Given the description of an element on the screen output the (x, y) to click on. 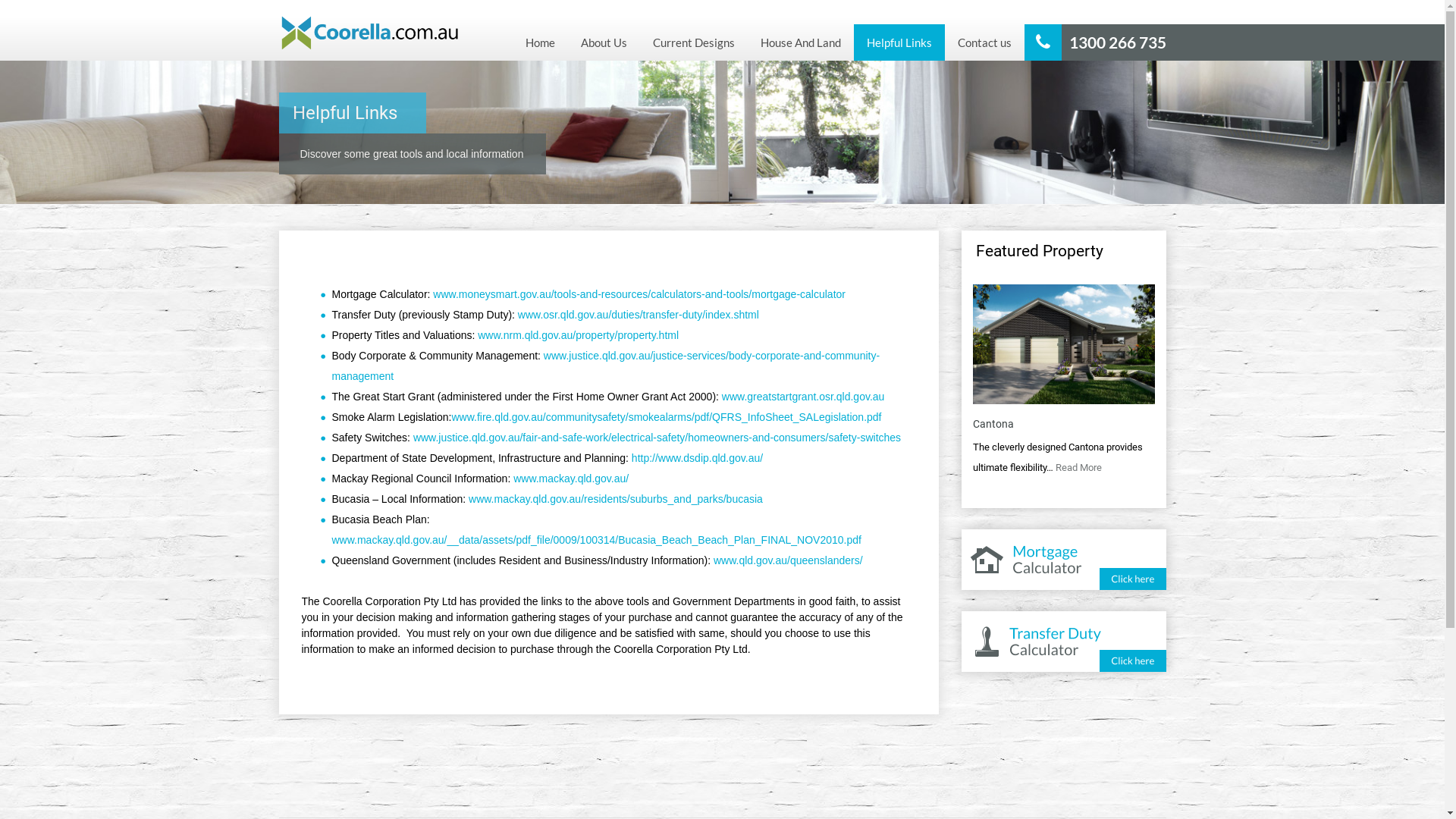
Contact us Element type: text (984, 42)
Home Element type: text (539, 42)
www.mackay.qld.gov.au/ Element type: text (570, 478)
Helpful Links Element type: text (898, 42)
http://www.dsdip.qld.gov.au/ Element type: text (696, 457)
www.qld.gov.au/queenslanders/ Element type: text (787, 560)
www.osr.qld.gov.au/duties/transfer-duty/index.shtml Element type: text (638, 314)
www.greatstartgrant.osr.qld.gov.au Element type: text (802, 396)
About Us Element type: text (603, 42)
www.nrm.qld.gov.au/property/property.html Element type: text (577, 335)
House And Land Element type: text (800, 42)
www.mackay.qld.gov.au/residents/suburbs_and_parks/bucasia Element type: text (615, 498)
Cantona Element type: text (992, 423)
Read More Element type: text (1078, 467)
Current Designs Element type: text (693, 42)
Coorella Element type: hover (370, 31)
